Given the description of an element on the screen output the (x, y) to click on. 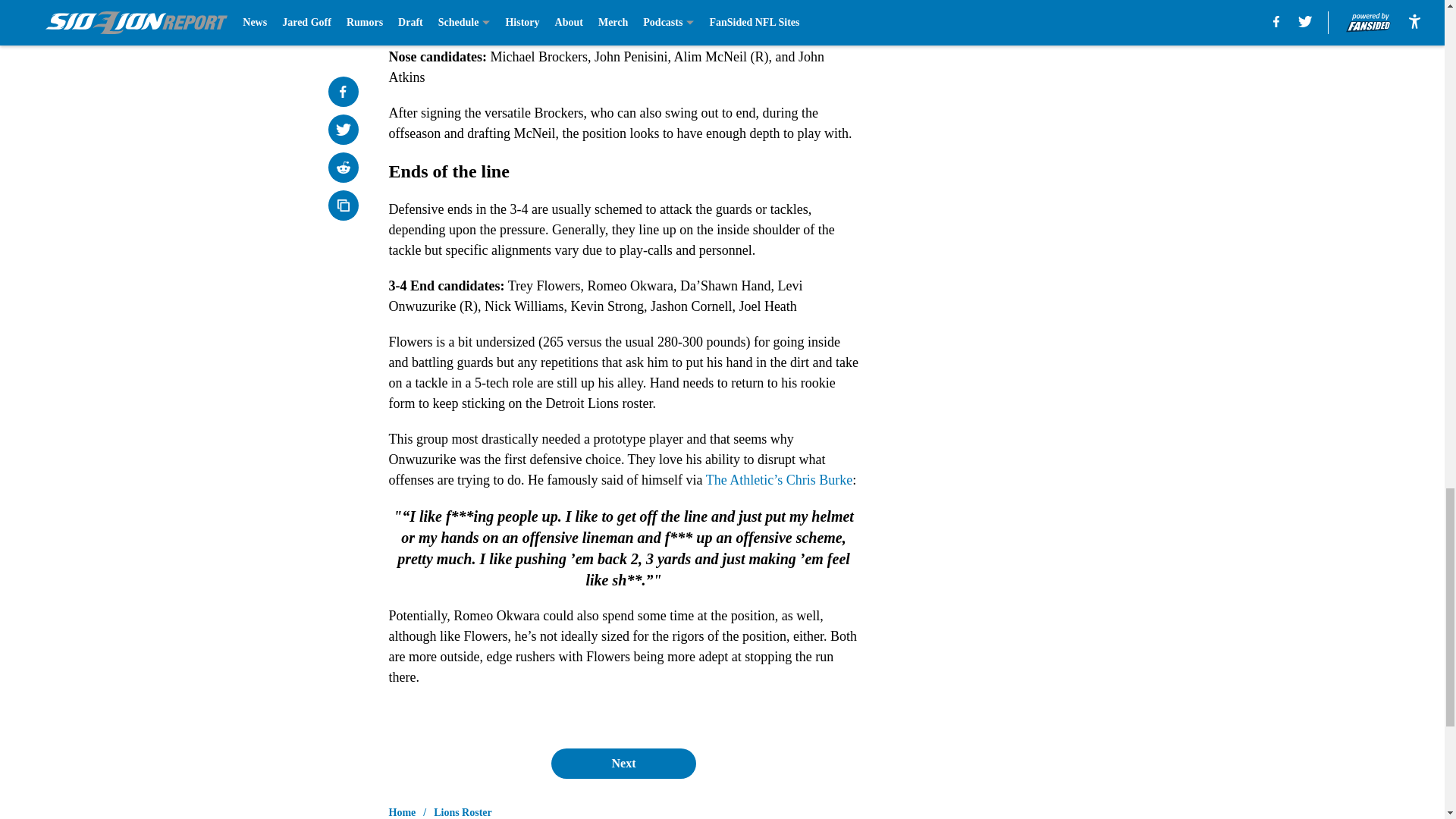
Lions Roster (462, 812)
Home (401, 812)
Next (622, 763)
